Given the description of an element on the screen output the (x, y) to click on. 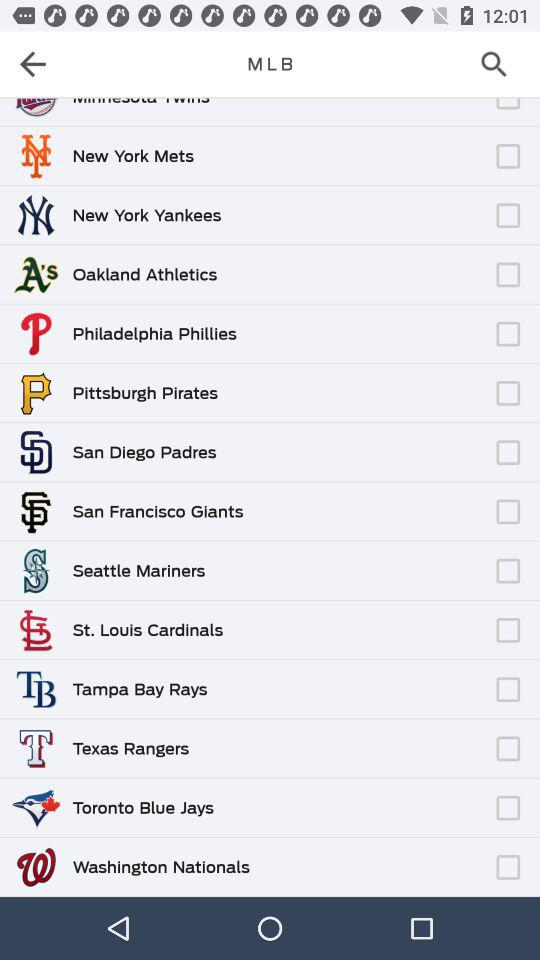
open the icon above the st. louis cardinals icon (356, 620)
